Given the description of an element on the screen output the (x, y) to click on. 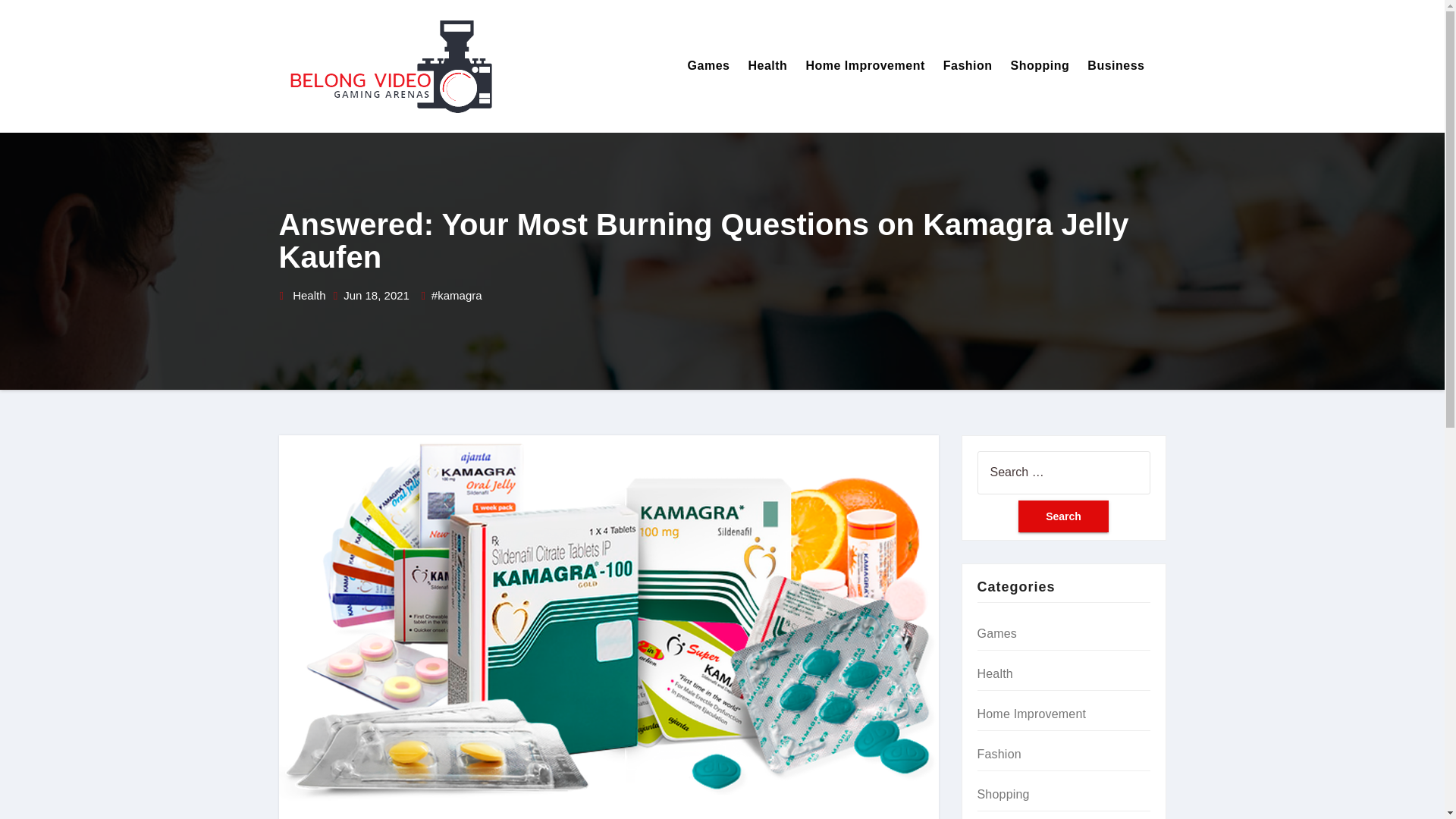
Games (996, 633)
Health (308, 295)
Fashion (967, 65)
Shopping (1002, 793)
Home Improvement (864, 65)
Home Improvement (1031, 713)
Shopping (1039, 65)
Fashion (998, 753)
Business (1115, 65)
Health (993, 673)
Fashion (967, 65)
Home Improvement (864, 65)
Search (1062, 516)
Health (767, 65)
Shopping (1039, 65)
